Given the description of an element on the screen output the (x, y) to click on. 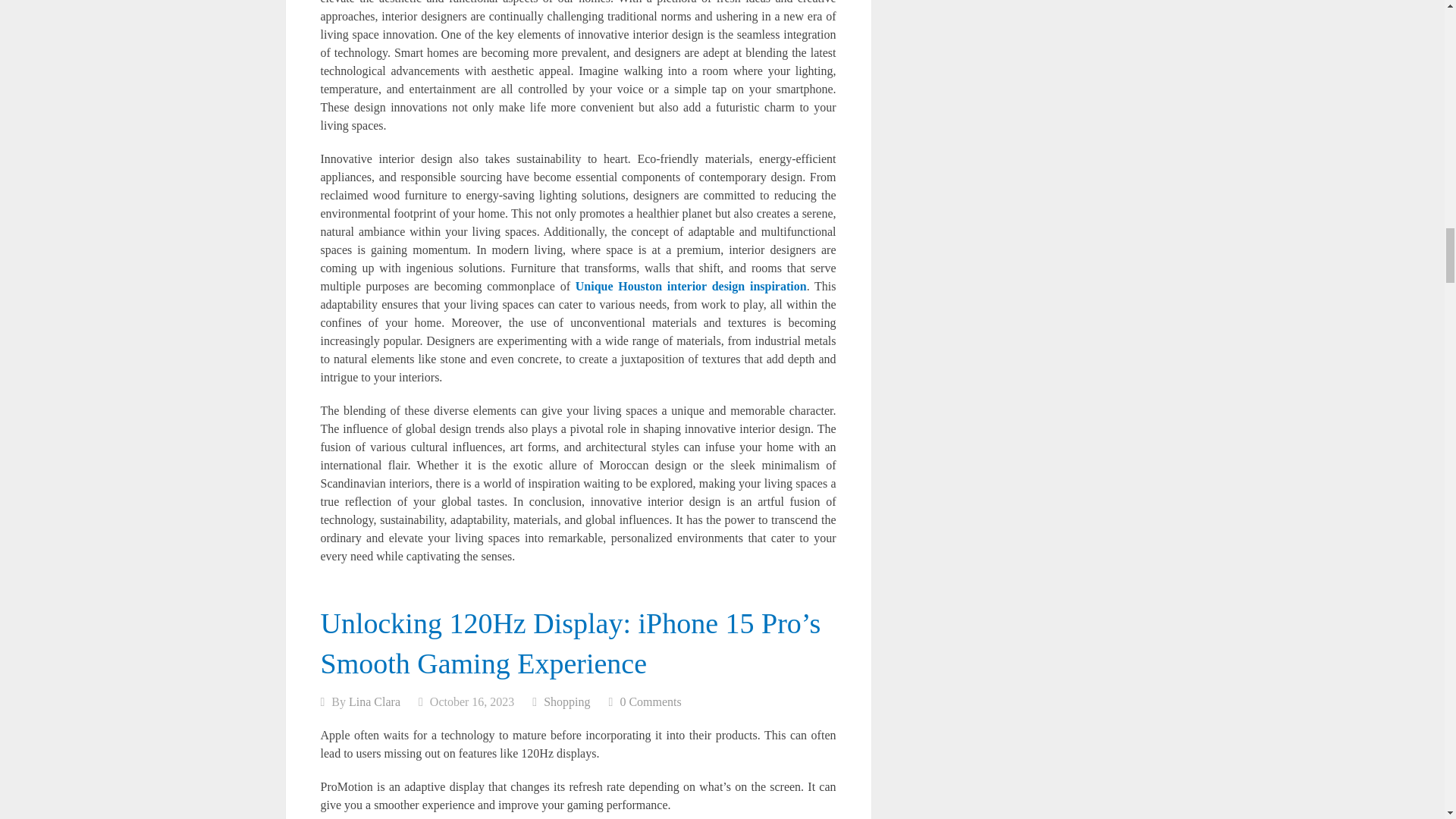
Unique Houston interior design inspiration (690, 285)
0 Comments (650, 701)
Shopping (566, 701)
Posts by Lina Clara (374, 701)
Lina Clara (374, 701)
